Given the description of an element on the screen output the (x, y) to click on. 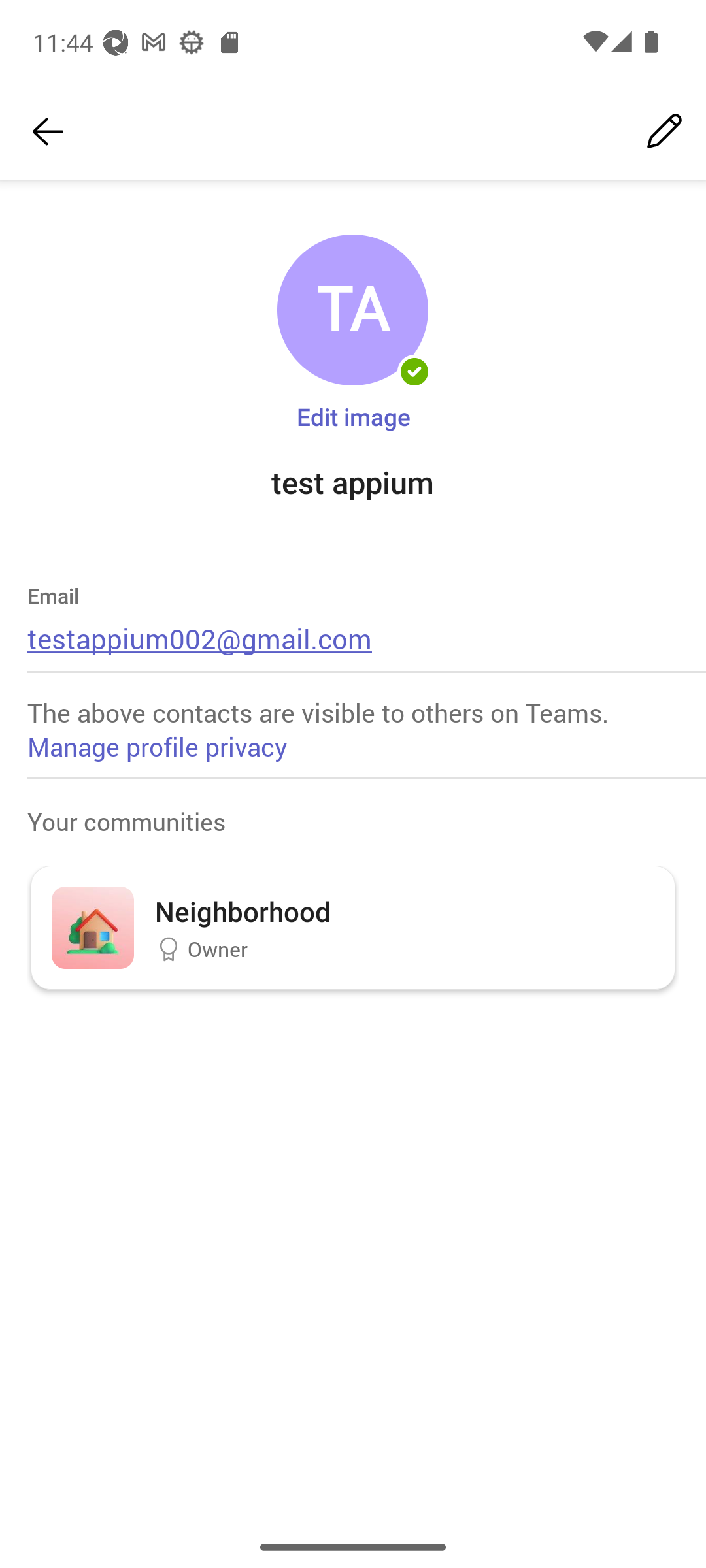
Back (48, 131)
Edit display name (664, 131)
test appium profile picture, Status: Available (352, 310)
Edit image (352, 415)
testappium002@gmail.com (199, 637)
